Given the description of an element on the screen output the (x, y) to click on. 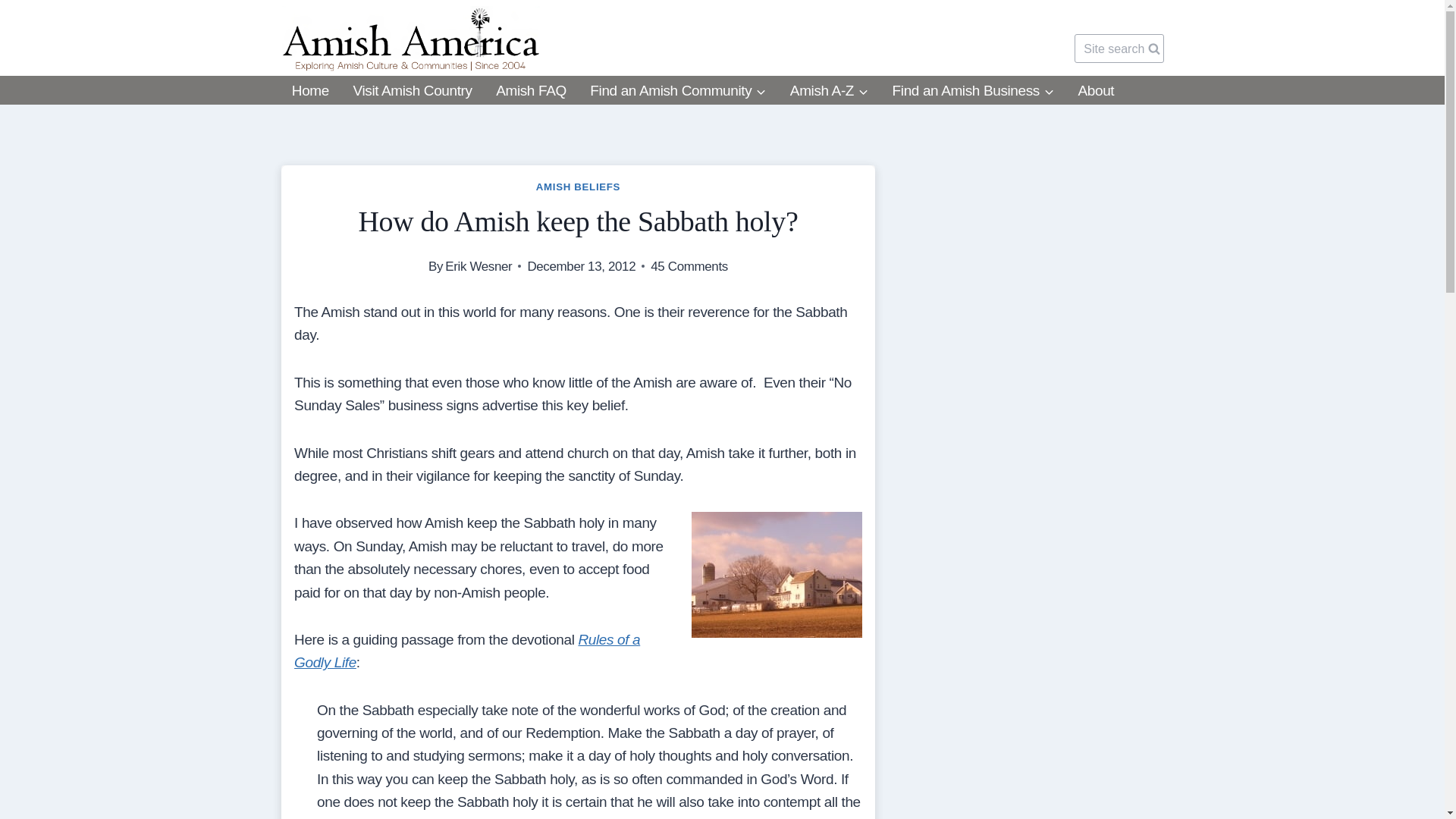
Visit Amish Country (412, 90)
Rules of a Godly Life (467, 650)
45 Comments (689, 266)
Find an Amish Business (972, 90)
Amish FAQ (530, 90)
Erik Wesner (478, 266)
Homepage (309, 90)
45 Comments (689, 266)
Find an Amish Community (678, 90)
About (1095, 90)
A-Z Guide to Amish Topics (828, 90)
Home (309, 90)
Amish A-Z (828, 90)
Site search (1118, 48)
AMISH BELIEFS (577, 186)
